Given the description of an element on the screen output the (x, y) to click on. 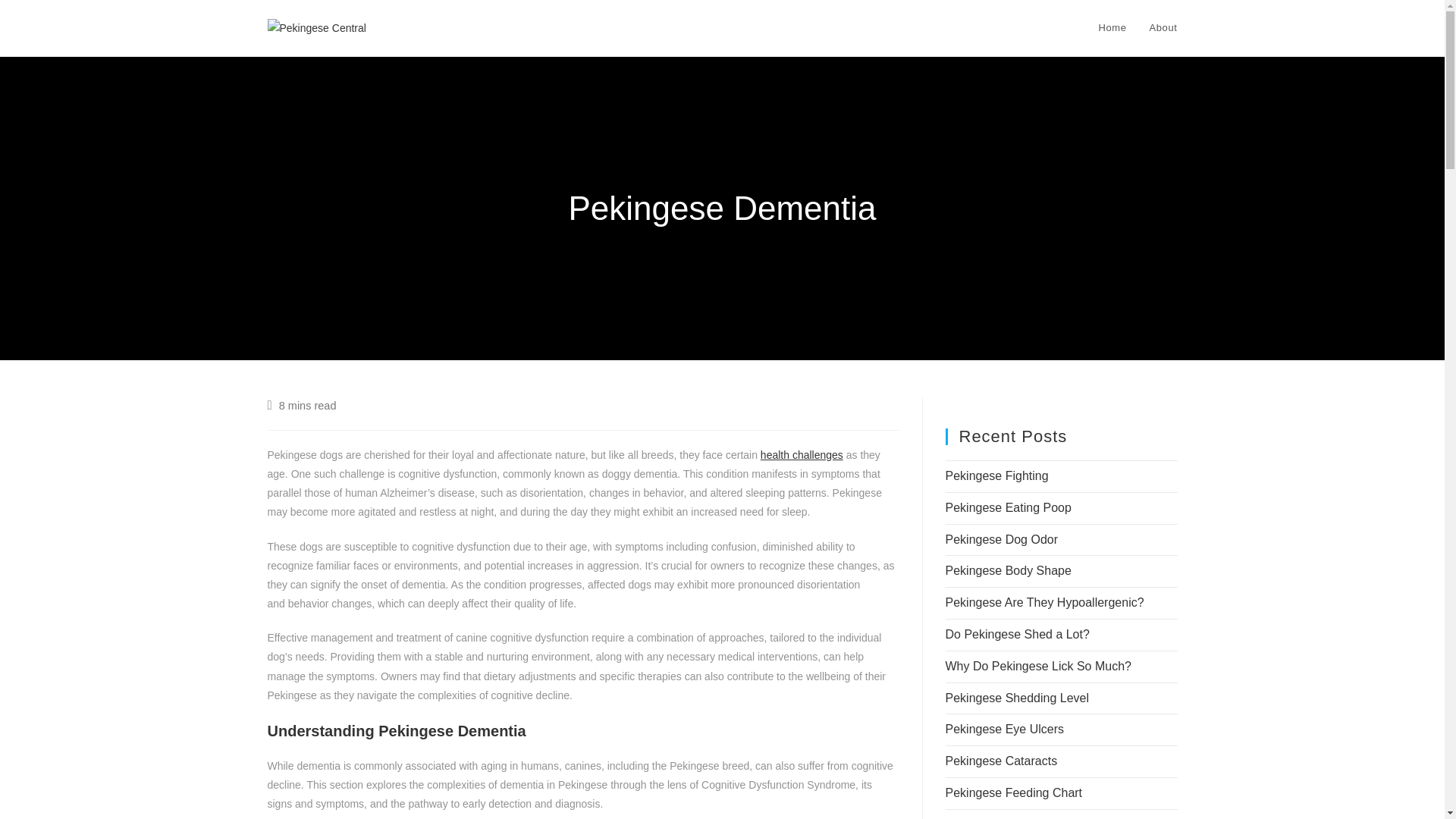
Pekingese Dog Odor (1001, 539)
About (1163, 28)
Pekingese Body Shape (1007, 570)
Why Do Pekingese Lick So Much? (1037, 666)
Pekingese Eye Ulcers (1004, 728)
Pekingese Cataracts (1000, 760)
health challenges (801, 454)
Pekingese Feeding Chart (1012, 792)
Pekingese Are They Hypoallergenic? (1043, 602)
Pekingese Shedding Level (1015, 697)
